Given the description of an element on the screen output the (x, y) to click on. 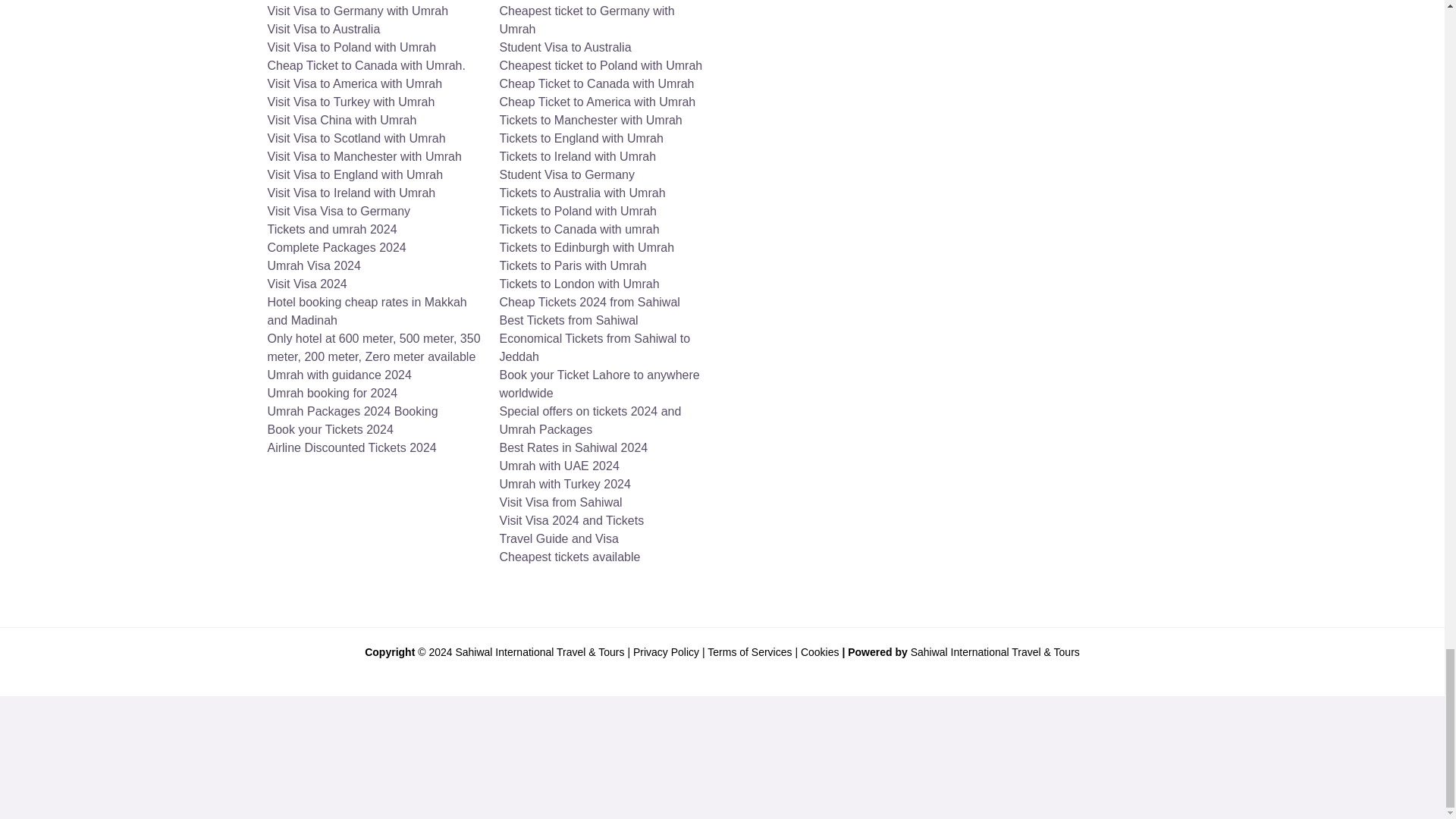
Terms of Services (749, 652)
Privacy Policy (665, 652)
Cookies (820, 652)
